Given the description of an element on the screen output the (x, y) to click on. 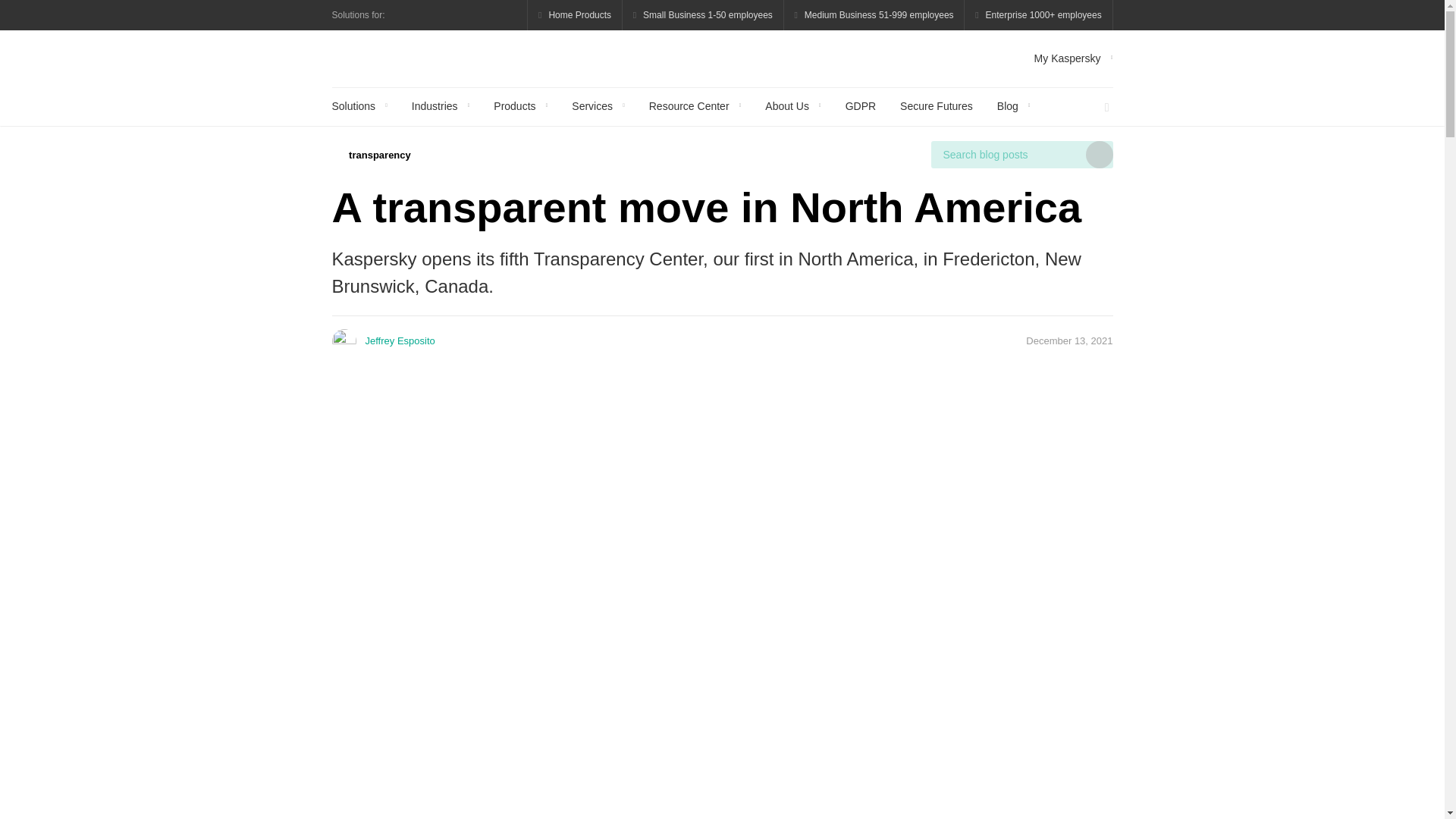
Home Products (575, 15)
Industries (440, 106)
Products (520, 106)
My Kaspersky (1073, 58)
Solutions (359, 106)
Kaspersky official blog (415, 58)
Services (598, 106)
font-icons icon-small-business (703, 15)
Kaspersky official blog (415, 58)
Small Business 1-50 employees (703, 15)
Medium Business 51-999 employees (874, 15)
